Given the description of an element on the screen output the (x, y) to click on. 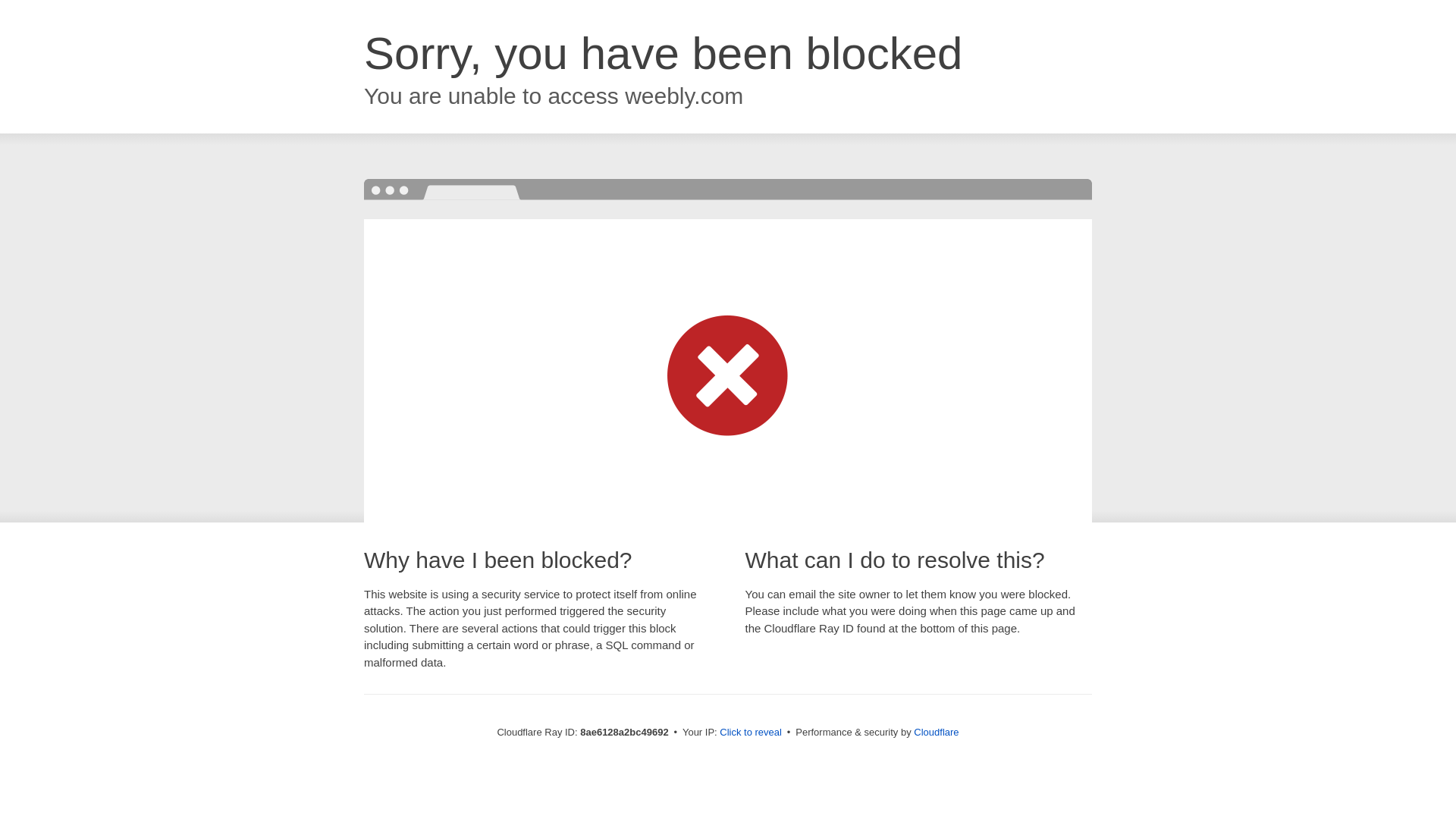
Cloudflare (936, 731)
Click to reveal (750, 732)
